Given the description of an element on the screen output the (x, y) to click on. 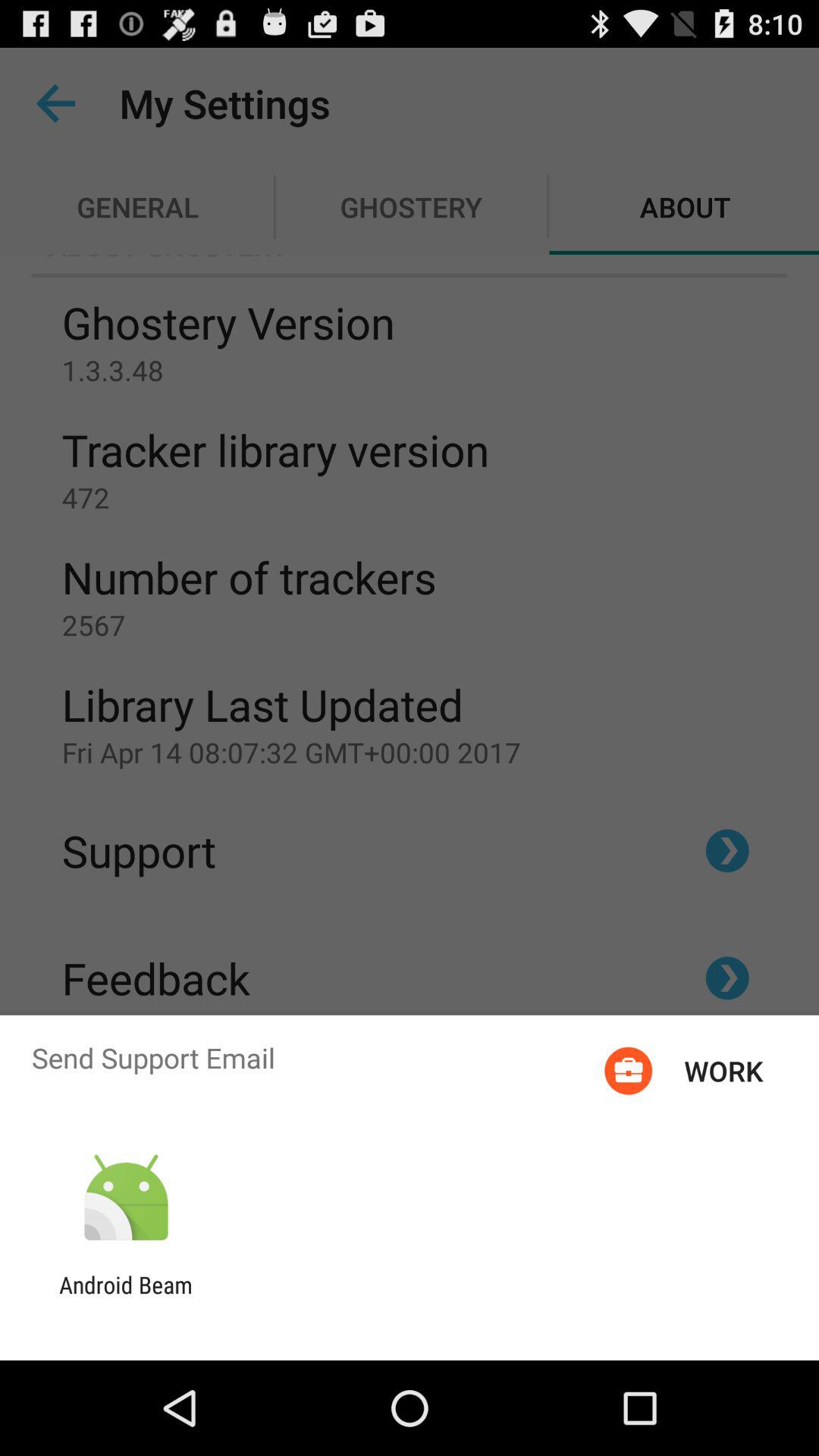
flip until android beam icon (125, 1298)
